Given the description of an element on the screen output the (x, y) to click on. 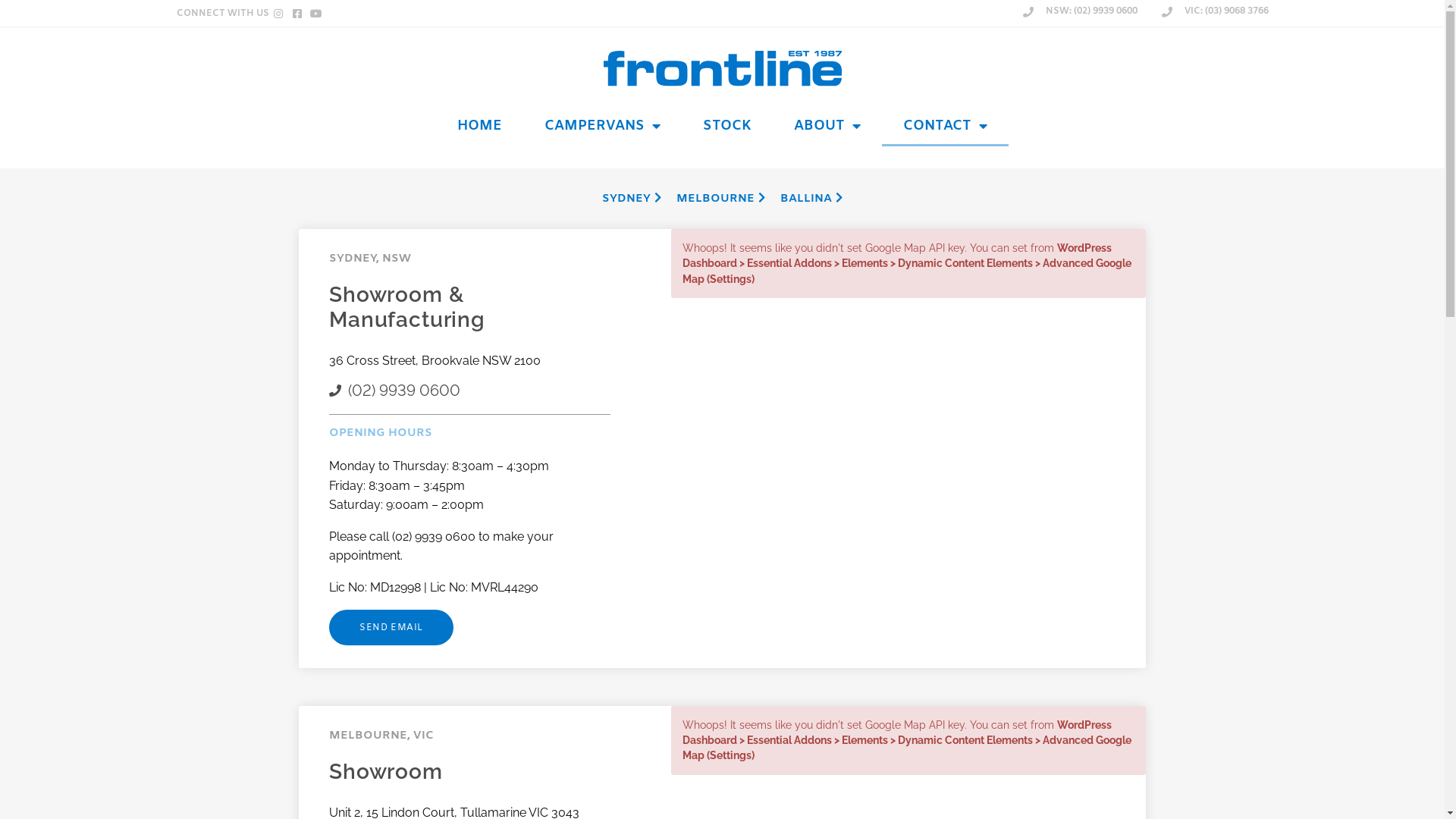
MELBOURNE Element type: text (720, 199)
YouTube Element type: text (676, 475)
Instagram Element type: text (676, 450)
News & Adventures Element type: text (509, 450)
BALLINA Element type: text (811, 199)
Facebook Element type: text (676, 424)
Shows & Events Element type: text (509, 424)
SIGN UP Element type: text (810, 471)
VW Transporter Element type: text (342, 423)
HOME Element type: text (479, 125)
36 Cross Street
Brookvale NSW 2100 Element type: text (363, 662)
NSW: (02) 9939 0600 Element type: text (1079, 12)
VIC: (03) 9068 3766 Element type: text (1213, 12)
(02) 9939 0600 Element type: text (362, 716)
CONTACT Element type: text (944, 125)
SYDNEY Element type: text (631, 199)
Toyota Hiace Element type: text (342, 449)
ABOUT Element type: text (826, 125)
SEND EMAIL Element type: text (391, 627)
Unit 2/15, Lindon Court
Tullamarine VIC 3043 Element type: text (1081, 662)
Testimonials Element type: text (509, 502)
Renault Trafic Element type: text (342, 475)
(03) 9068 3766 Element type: text (1080, 716)
STOCK Element type: text (726, 125)
About Frontline Element type: text (509, 475)
36 Cross Street, Brookvale NSW 2100 Element type: text (434, 360)
CAMPERVANS Element type: text (602, 125)
